Given the description of an element on the screen output the (x, y) to click on. 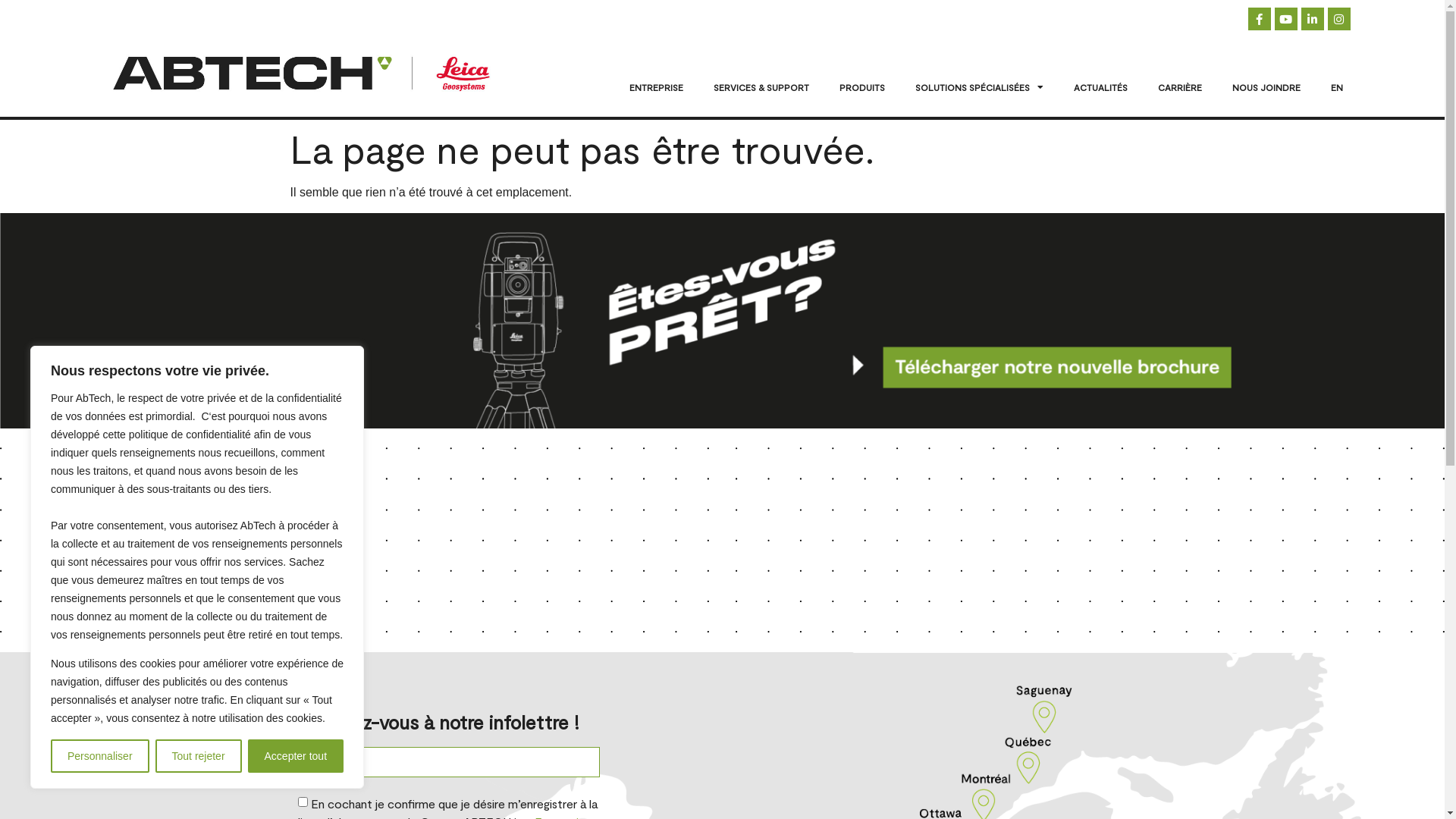
EN Element type: text (1336, 86)
Personnaliser Element type: text (99, 755)
NOUS JOINDRE Element type: text (1266, 86)
Tout rejeter Element type: text (198, 755)
PRODUITS Element type: text (862, 86)
Accepter tout Element type: text (295, 755)
SERVICES & SUPPORT Element type: text (761, 86)
ENTREPRISE Element type: text (656, 86)
